Given the description of an element on the screen output the (x, y) to click on. 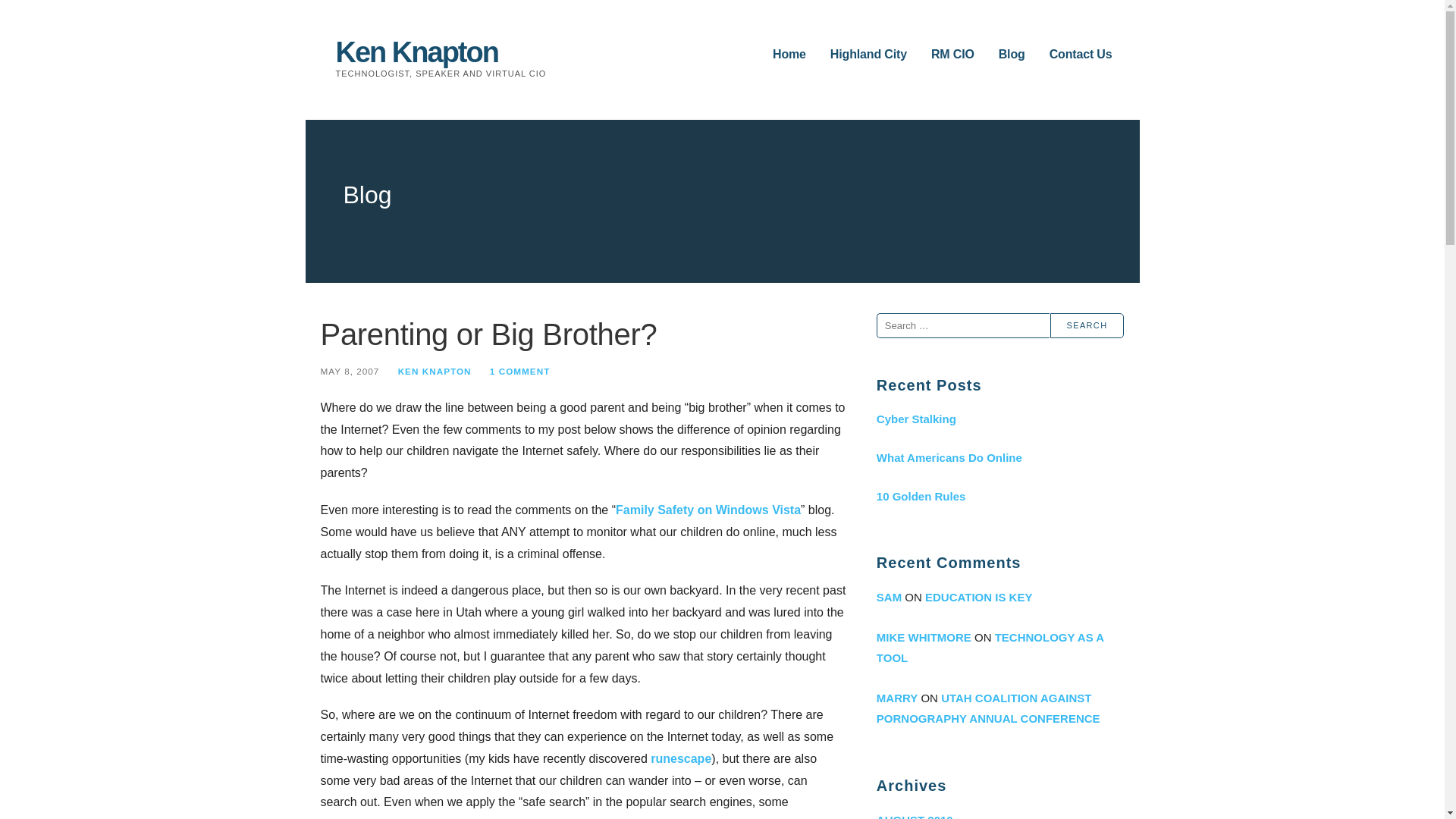
RM CIO (952, 55)
Search (1086, 325)
Cyber Stalking (1000, 418)
MIKE WHITMORE (923, 636)
Home (789, 55)
TECHNOLOGY AS A TOOL (989, 647)
KEN KNAPTON (434, 370)
UTAH COALITION AGAINST PORNOGRAPHY ANNUAL CONFERENCE (988, 707)
10 Golden Rules (1000, 496)
EDUCATION IS KEY (978, 596)
Search (1086, 325)
1 COMMENT (519, 370)
MARRY (896, 697)
Search (1086, 325)
Highland City (868, 55)
